Given the description of an element on the screen output the (x, y) to click on. 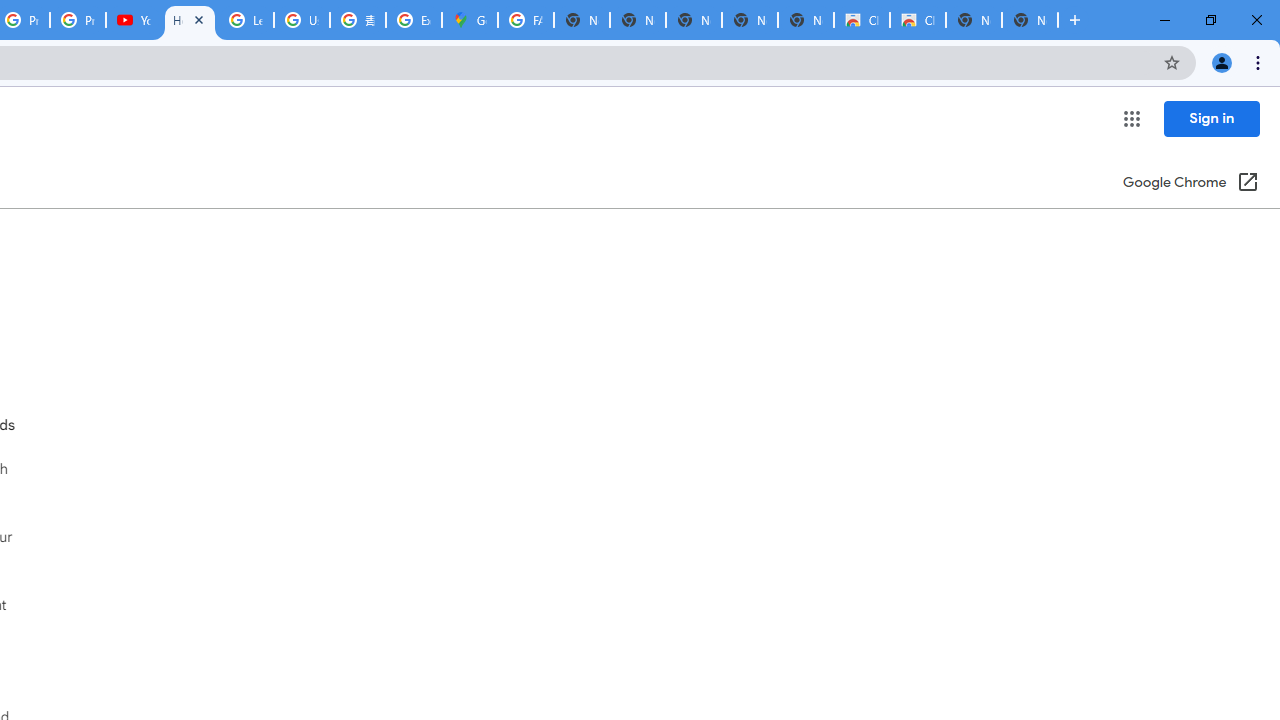
Google Maps (469, 20)
Explore new street-level details - Google Maps Help (413, 20)
